Given the description of an element on the screen output the (x, y) to click on. 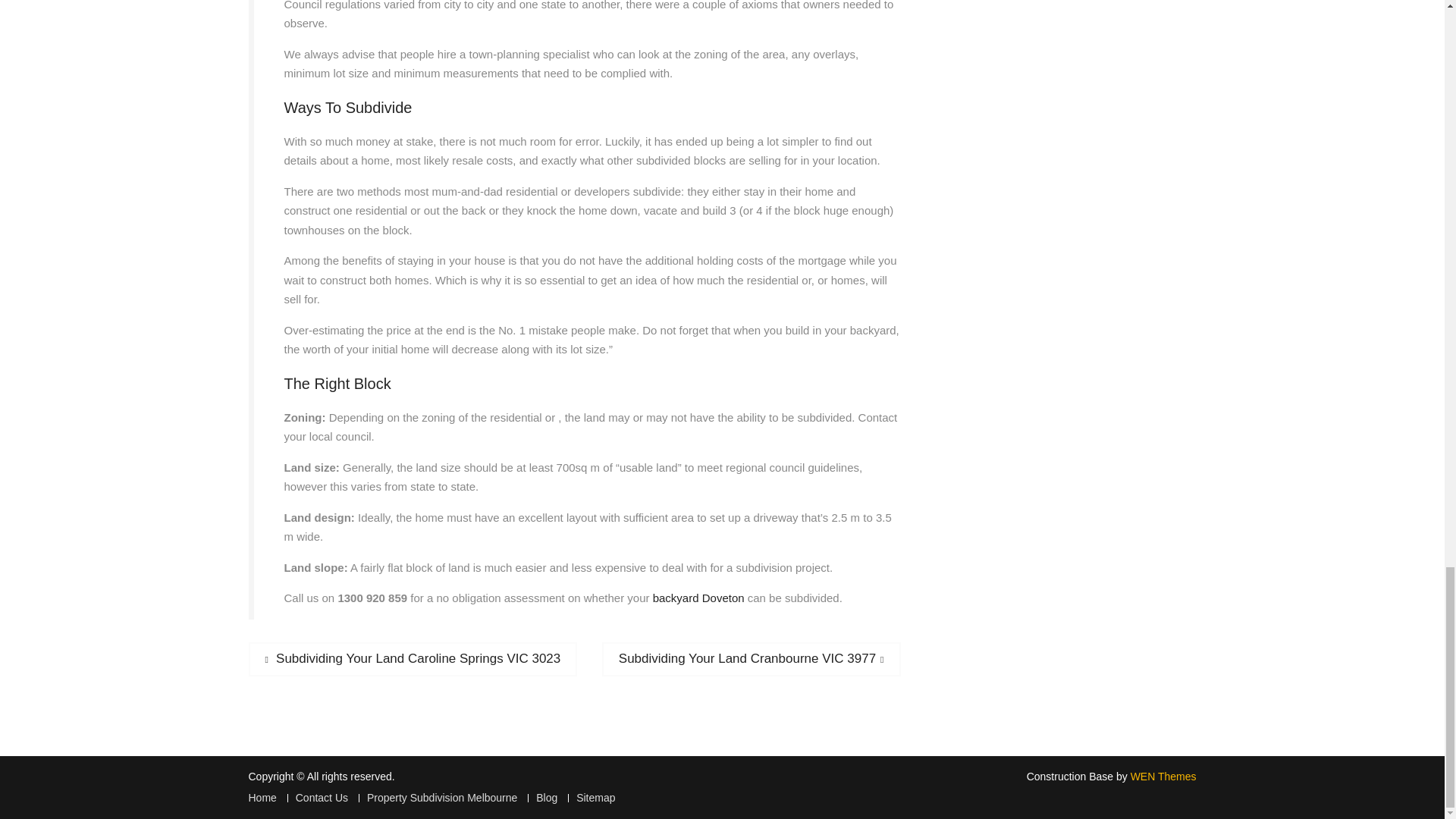
Home (262, 797)
backyard Doveton (698, 597)
Property Subdivision Melbourne (437, 797)
Blog (542, 797)
Contact Us (751, 659)
